Given the description of an element on the screen output the (x, y) to click on. 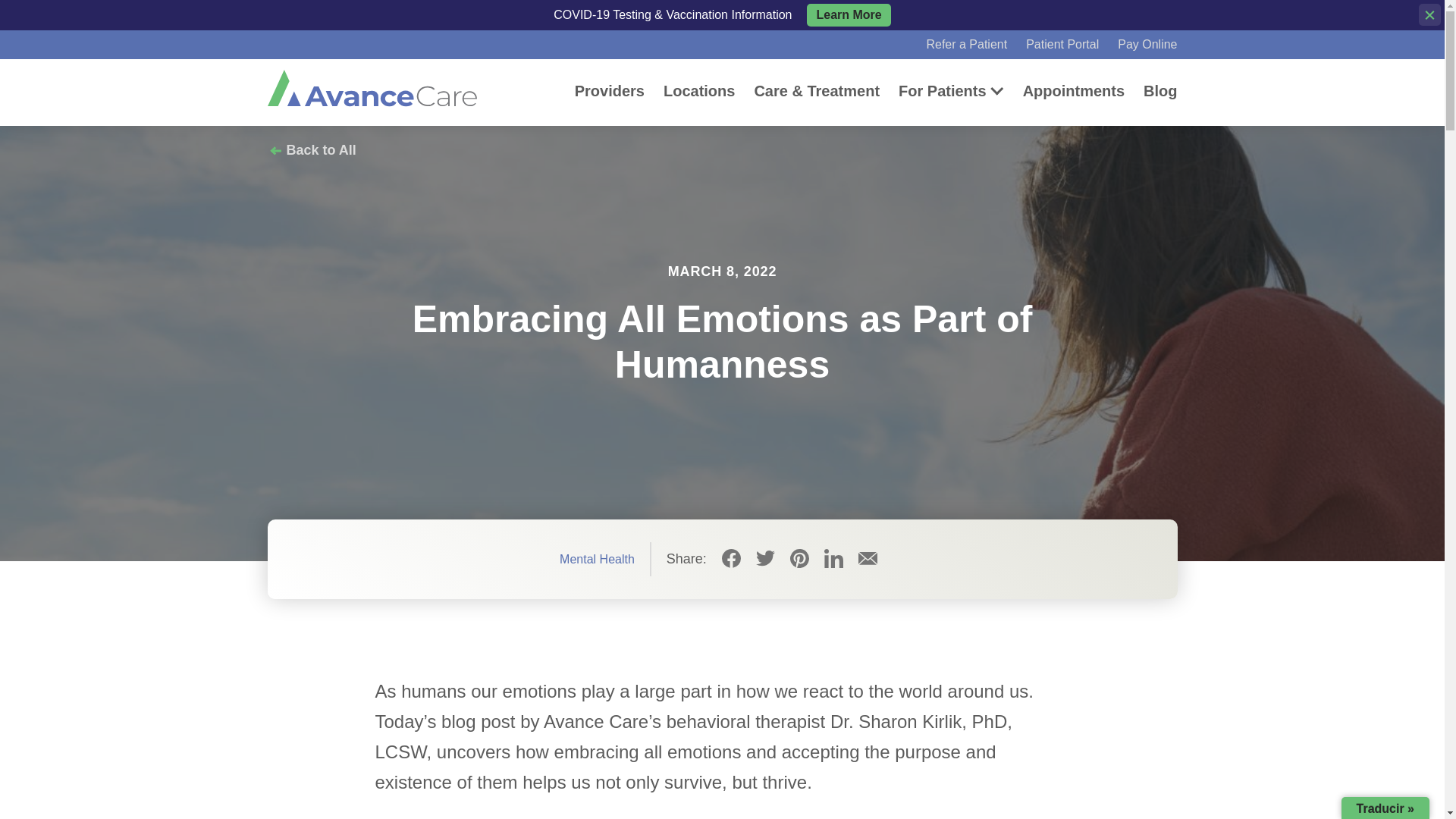
For Patients (942, 90)
Appointments (1073, 90)
Back to All (310, 149)
Pay Online (1147, 43)
Blog (1159, 90)
Avance Care (371, 88)
Return to Homepage (371, 88)
Refer a Patient (966, 43)
Locations (699, 90)
Hide Notification Bar (1429, 14)
Providers (610, 90)
Mental Health (596, 558)
Learn More (847, 15)
Patient Portal (1062, 43)
